Given the description of an element on the screen output the (x, y) to click on. 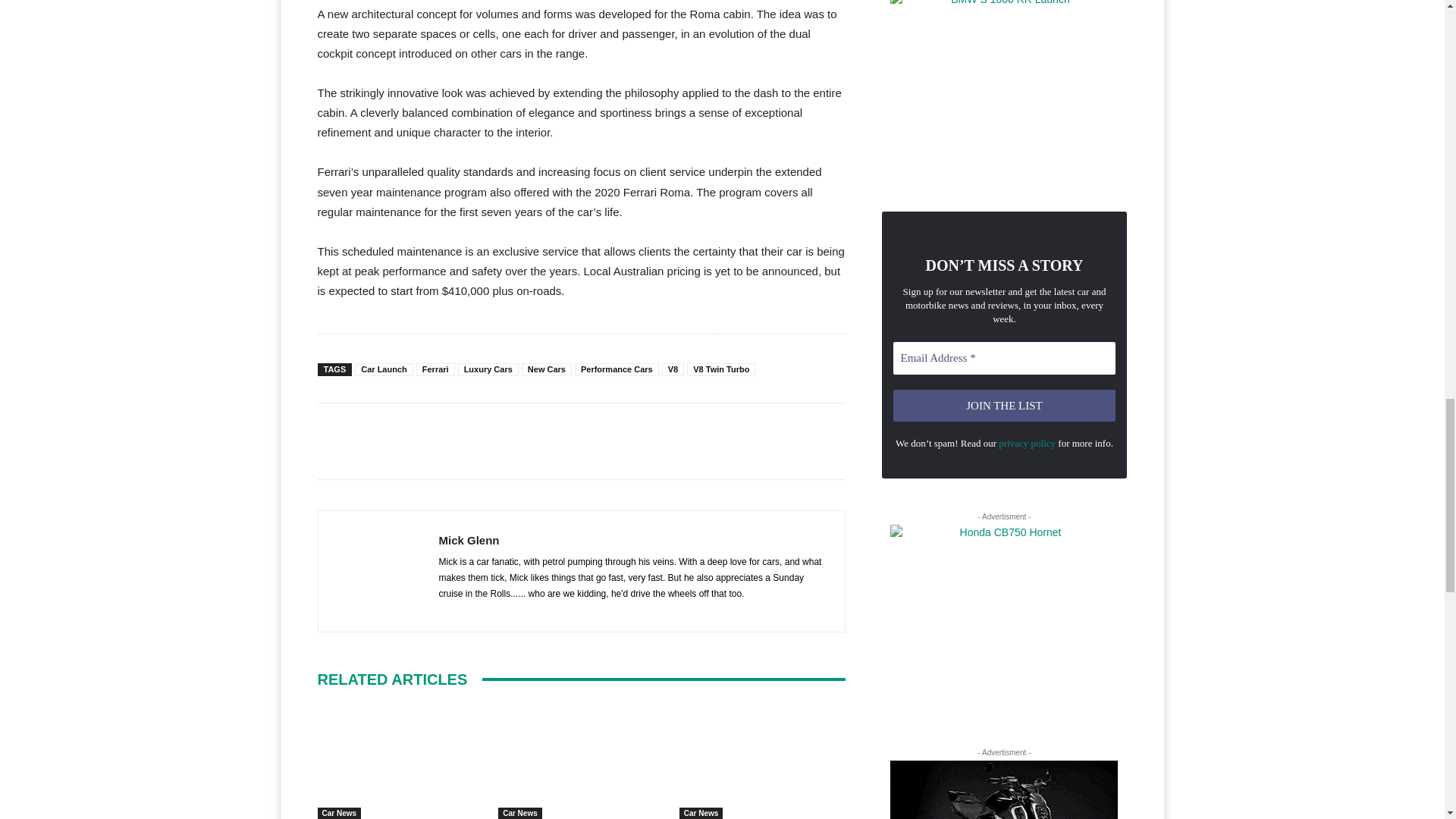
JOIN THE LIST (1004, 405)
